Given the description of an element on the screen output the (x, y) to click on. 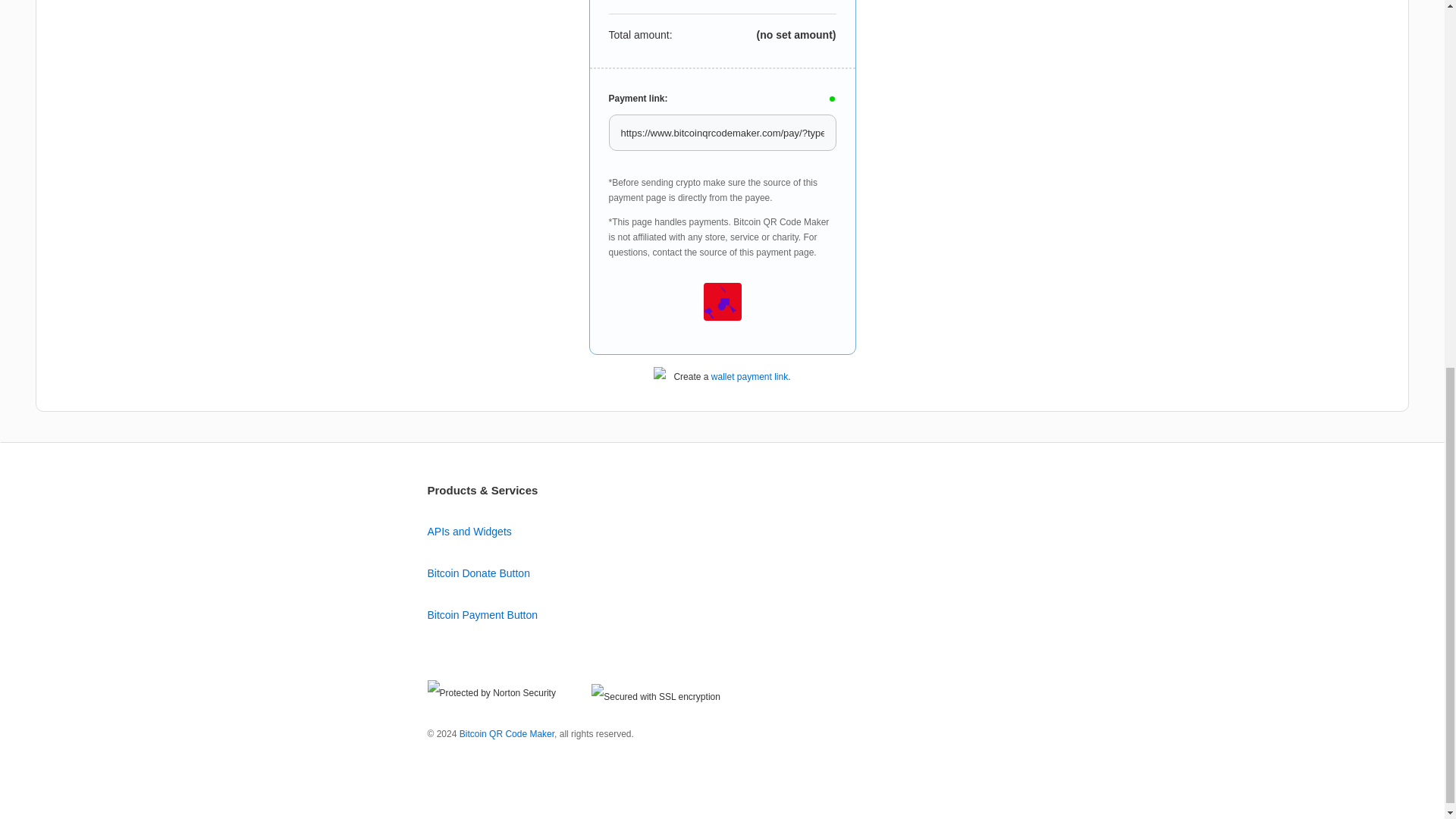
Bitcoin Donate Button (478, 573)
APIs and Widgets (470, 531)
APIs and Widgets (470, 531)
Protected by Norton Security (492, 693)
Secured with SSL encryption (655, 696)
Bitcoin Donate Button (478, 573)
Bitcoin QR Code Maker (507, 733)
Bitcoin Payment Button (483, 614)
wallet payment link (749, 376)
Wallet payment link (749, 376)
Bitcoin Payment Button (483, 614)
Bitcoin QR Code Maker (507, 733)
